Given the description of an element on the screen output the (x, y) to click on. 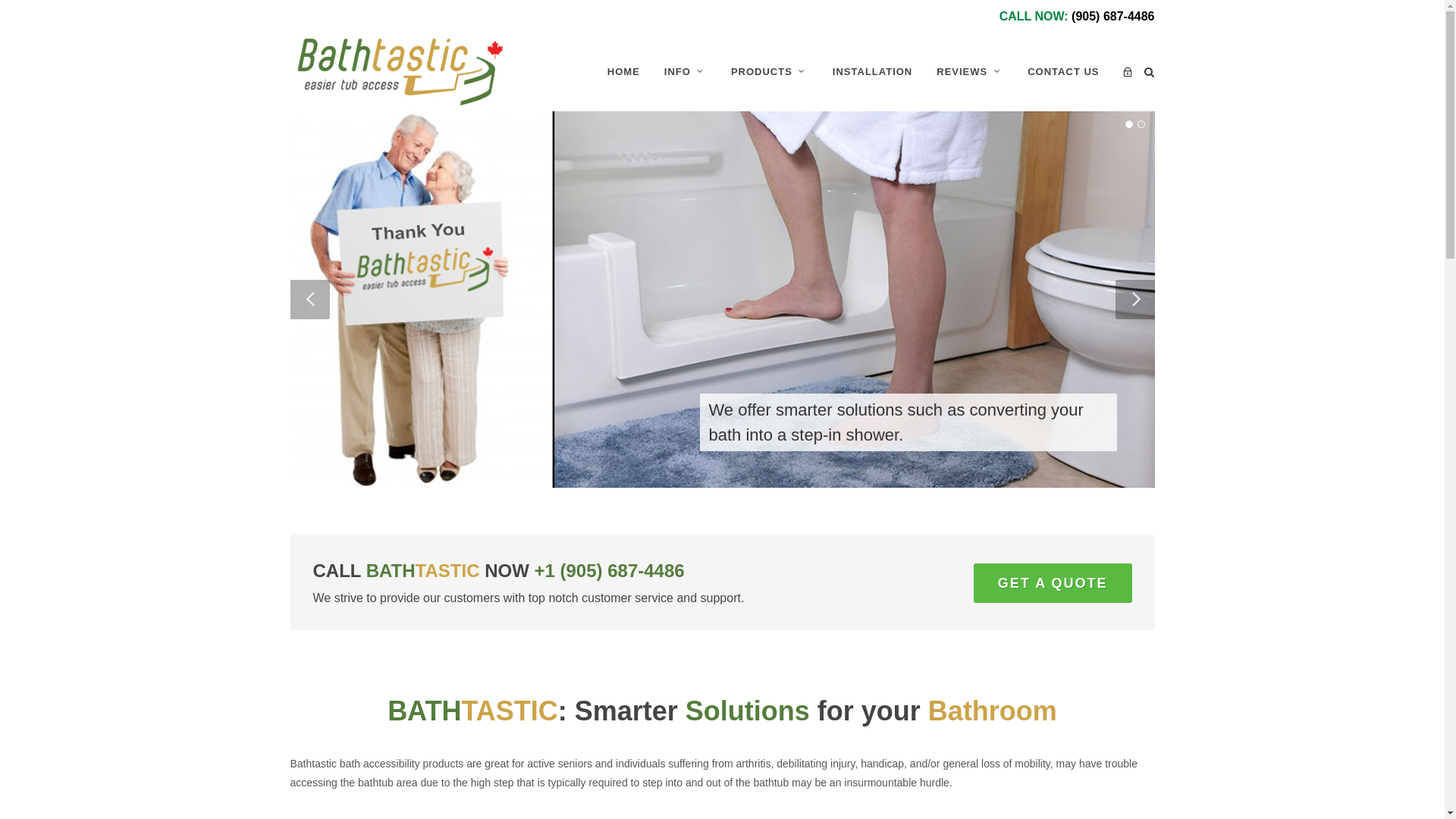
Bathtastic Element type: hover (399, 71)
INSTALLATION Element type: text (872, 71)
GET A QUOTE Element type: text (1052, 582)
1 Element type: text (1128, 124)
PRODUCTS Element type: text (769, 71)
REVIEWS Element type: text (969, 71)
CALL NOW: (905) 687-4486 Element type: text (1074, 15)
2 Element type: text (1141, 124)
HOME Element type: text (623, 71)
INFO Element type: text (685, 71)
CONTACT US Element type: text (1063, 71)
